Given the description of an element on the screen output the (x, y) to click on. 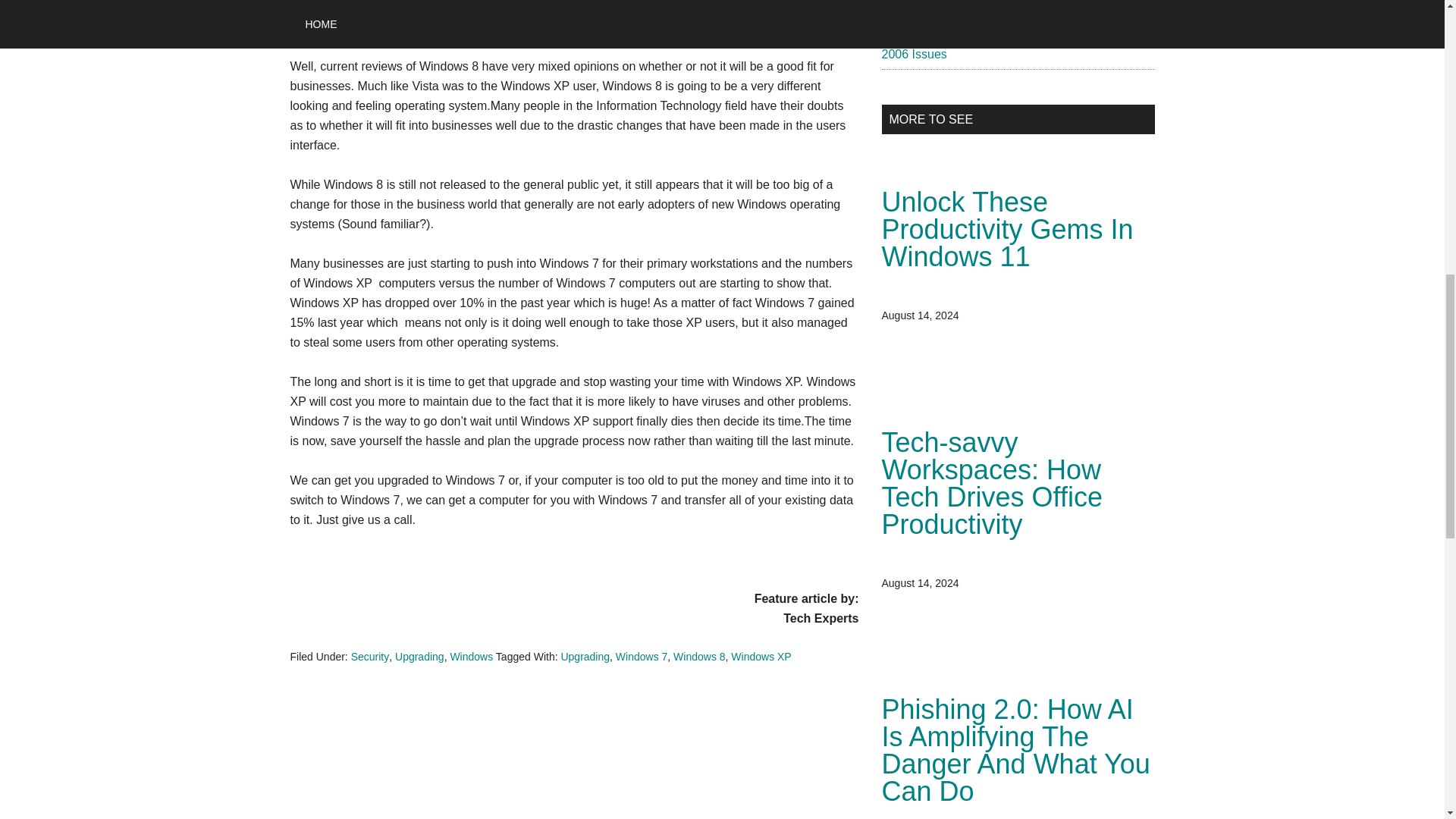
Upgrading (419, 656)
2006 Issues (913, 53)
Windows XP (760, 656)
Security (370, 656)
Windows 7 (640, 656)
2007 Issues (913, 24)
Windows 8 (698, 656)
Unlock These Productivity Gems In Windows 11 (1006, 228)
Upgrading (585, 656)
